Given the description of an element on the screen output the (x, y) to click on. 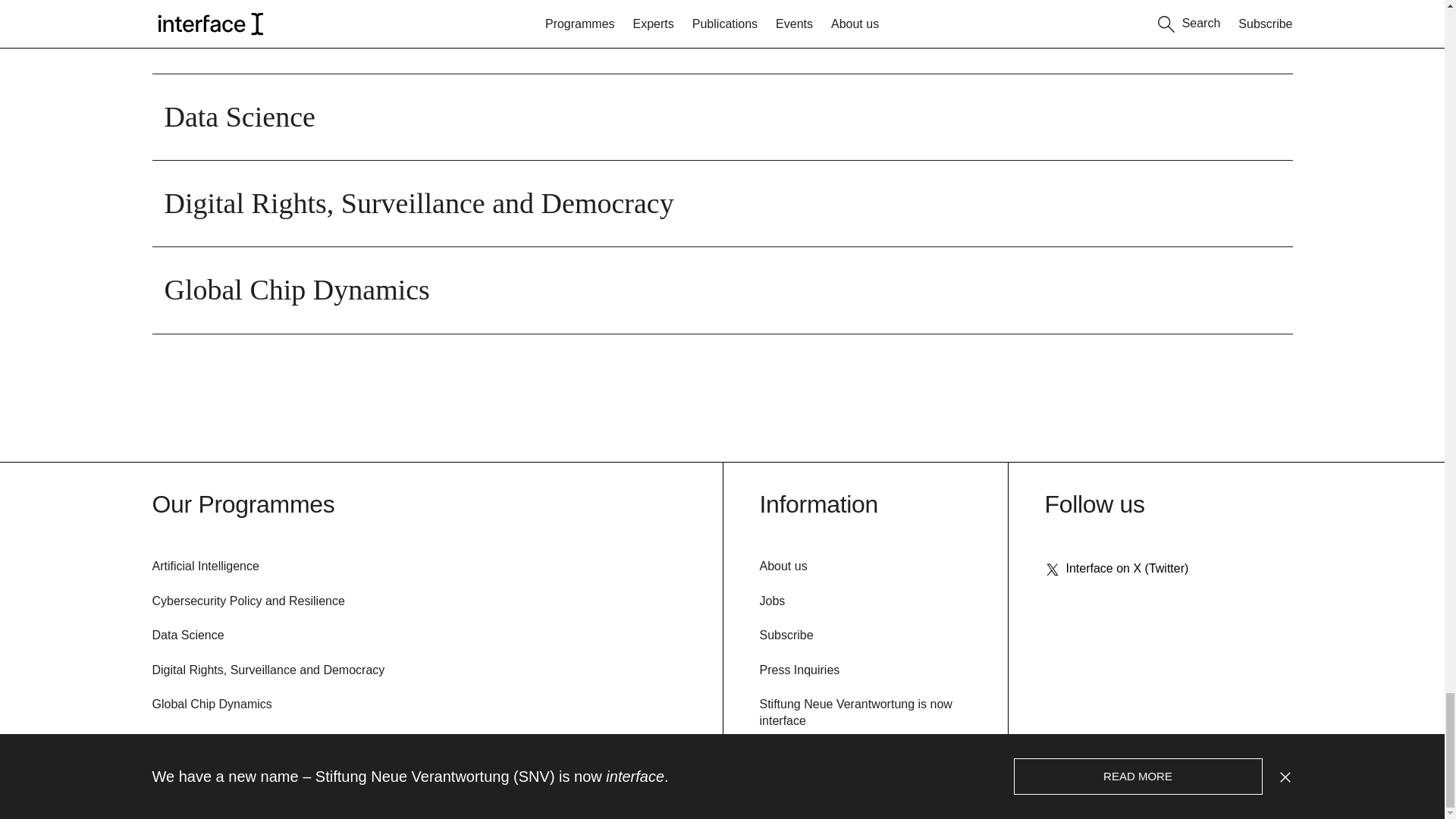
Global Chip Dynamics (721, 289)
Cybersecurity Policy and Resilience (721, 36)
Data Science (721, 116)
Digital Rights, Surveillance and Democracy (721, 202)
